Given the description of an element on the screen output the (x, y) to click on. 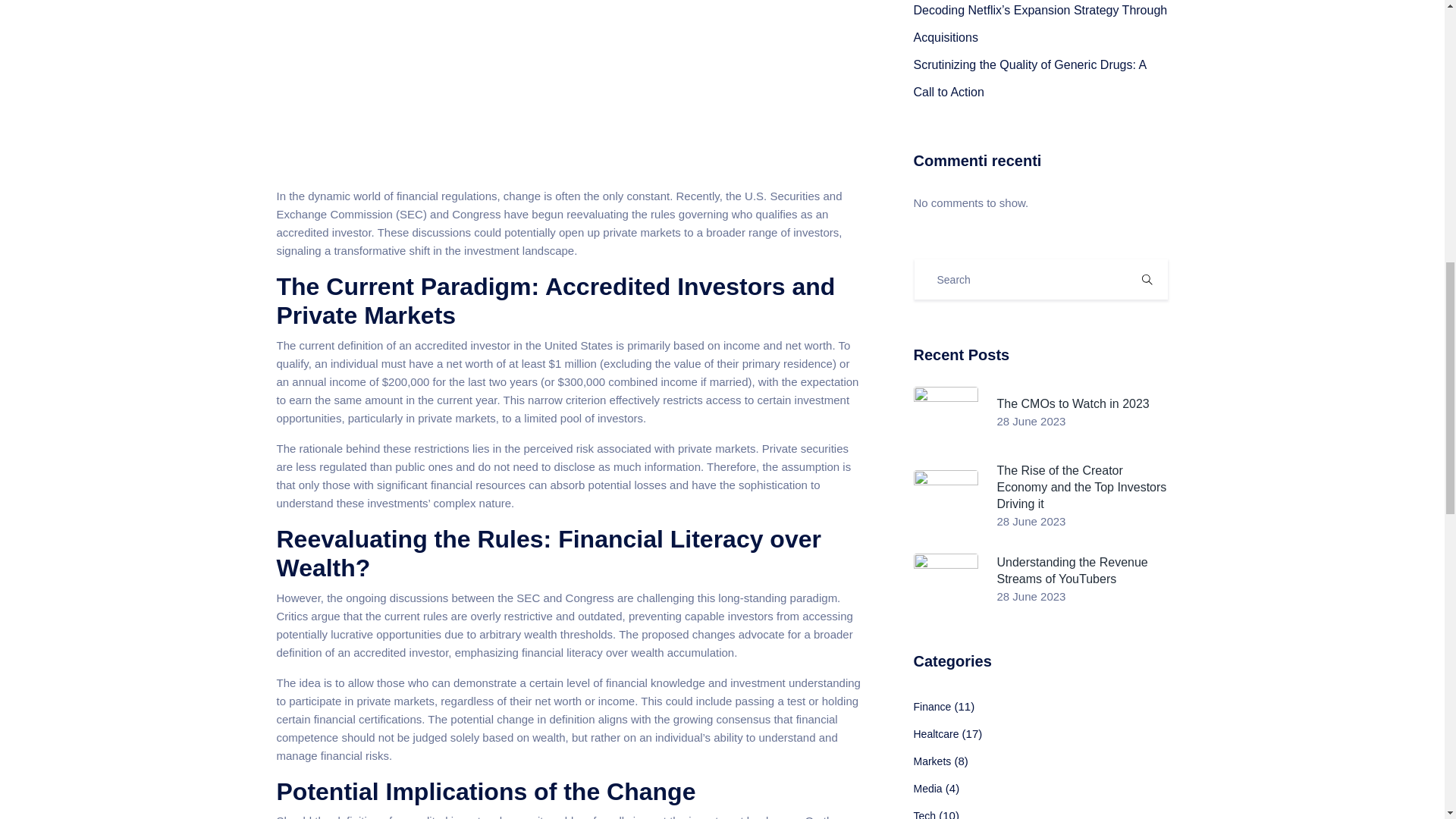
Markets (931, 761)
Media (927, 788)
Understanding the Revenue Streams of YouTubers (1081, 578)
Tech (924, 814)
The CMOs to Watch in 2023 (1071, 411)
The CMOs to Watch in 2023 (1071, 411)
Healtcare (935, 734)
Understanding the Revenue Streams of YouTubers (1081, 578)
